Given the description of an element on the screen output the (x, y) to click on. 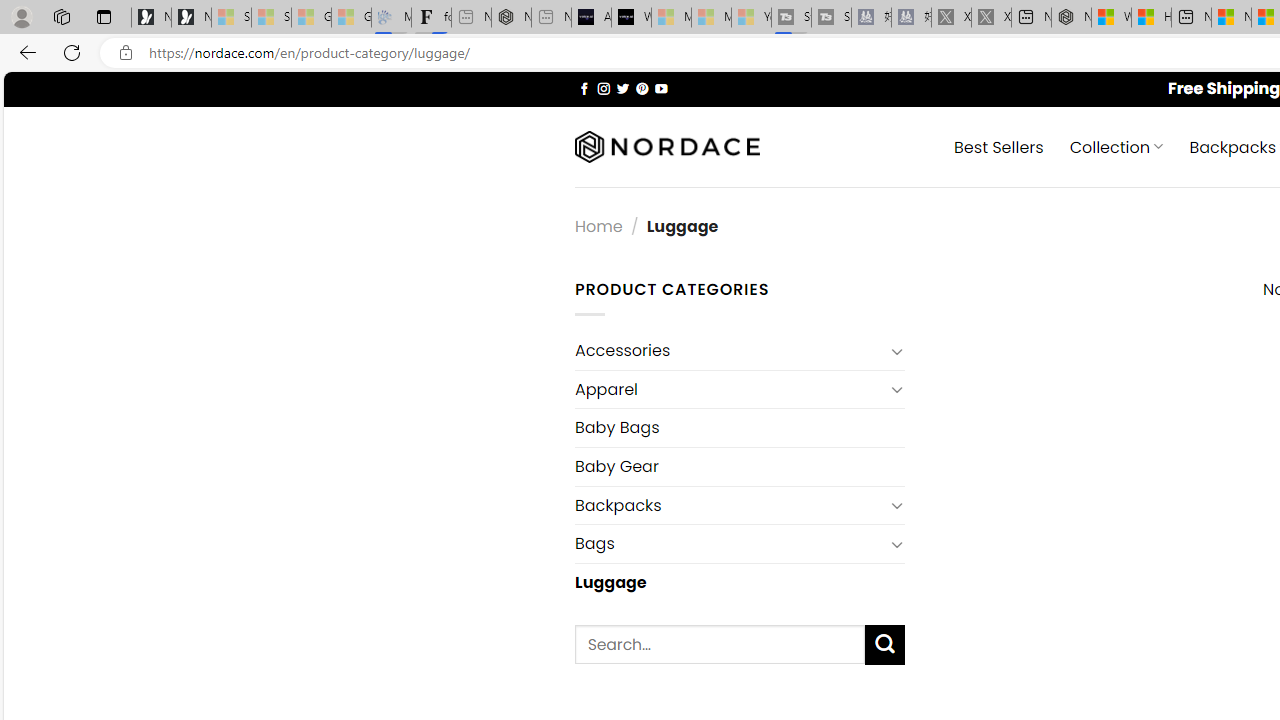
Follow on Instagram (603, 88)
Follow on YouTube (661, 88)
Baby Gear (739, 466)
Huge shark washes ashore at New York City beach | Watch (1151, 17)
Apparel (729, 389)
Follow on Twitter (621, 88)
